Given the description of an element on the screen output the (x, y) to click on. 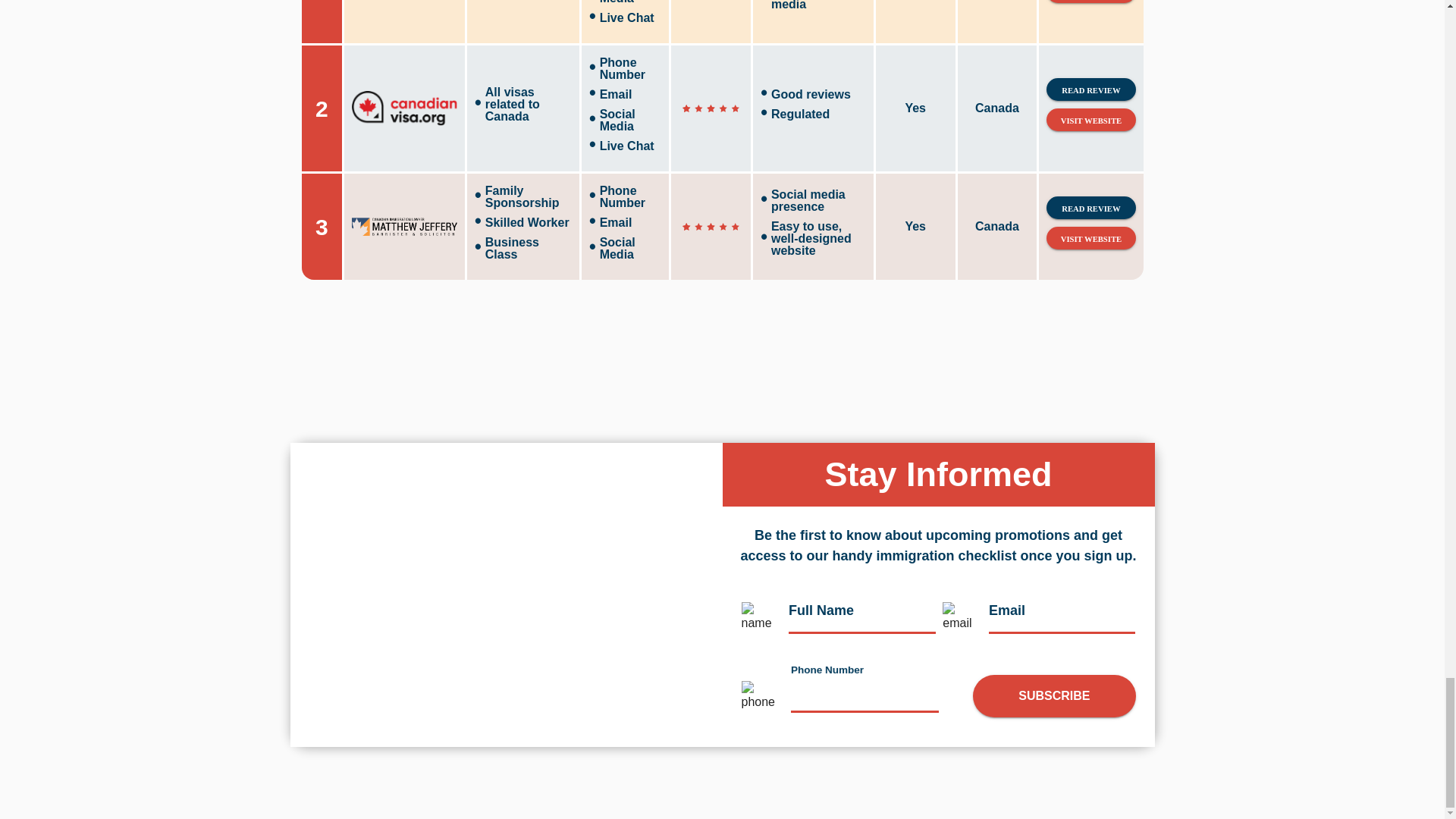
VISIT WEBSITE (1090, 119)
READ REVIEW (1090, 88)
VISIT WEBSITE (1090, 1)
